Given the description of an element on the screen output the (x, y) to click on. 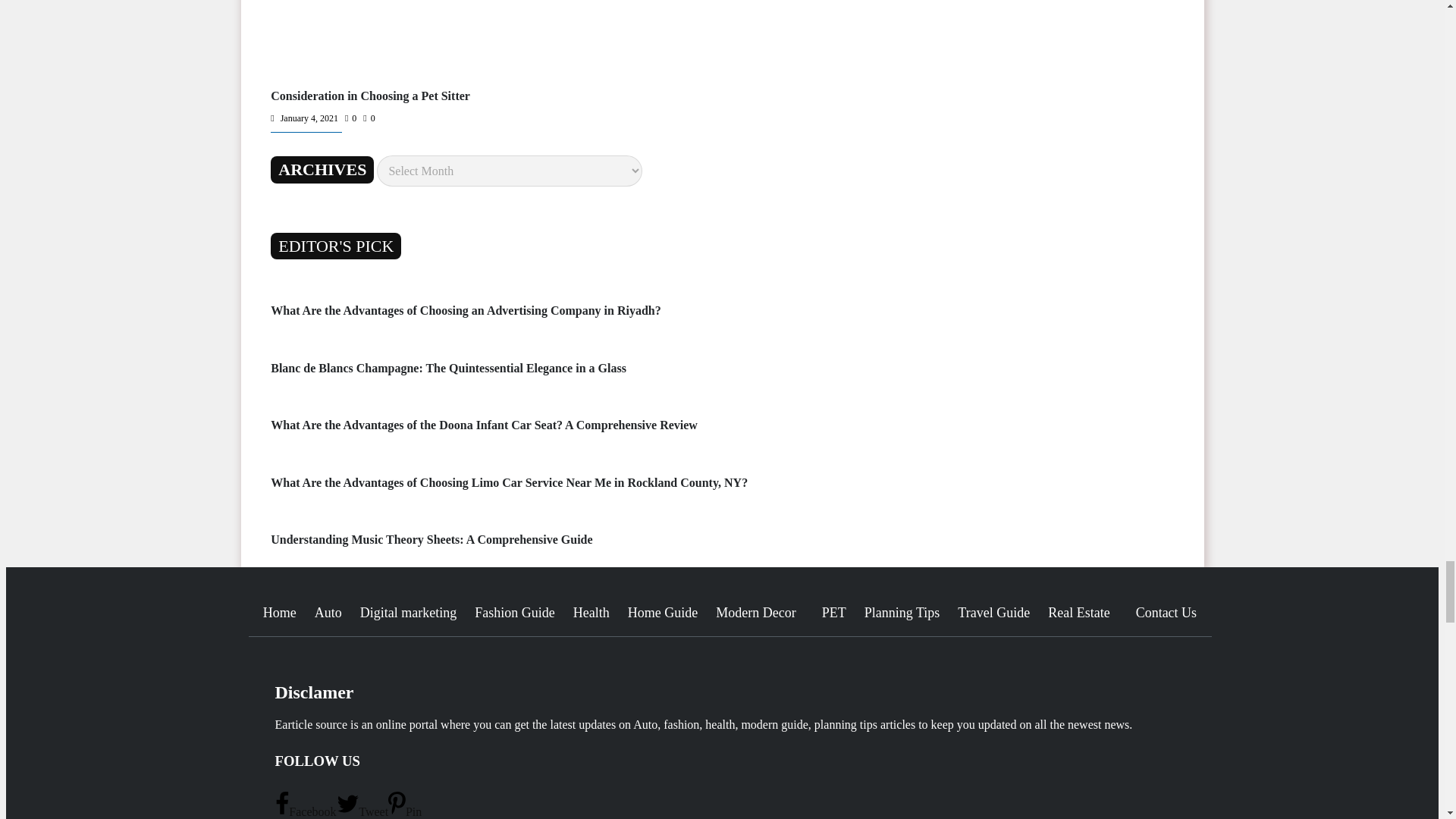
Share on Twitter (362, 811)
Share on Pinterest (405, 811)
Share on Facebook (305, 811)
